Given the description of an element on the screen output the (x, y) to click on. 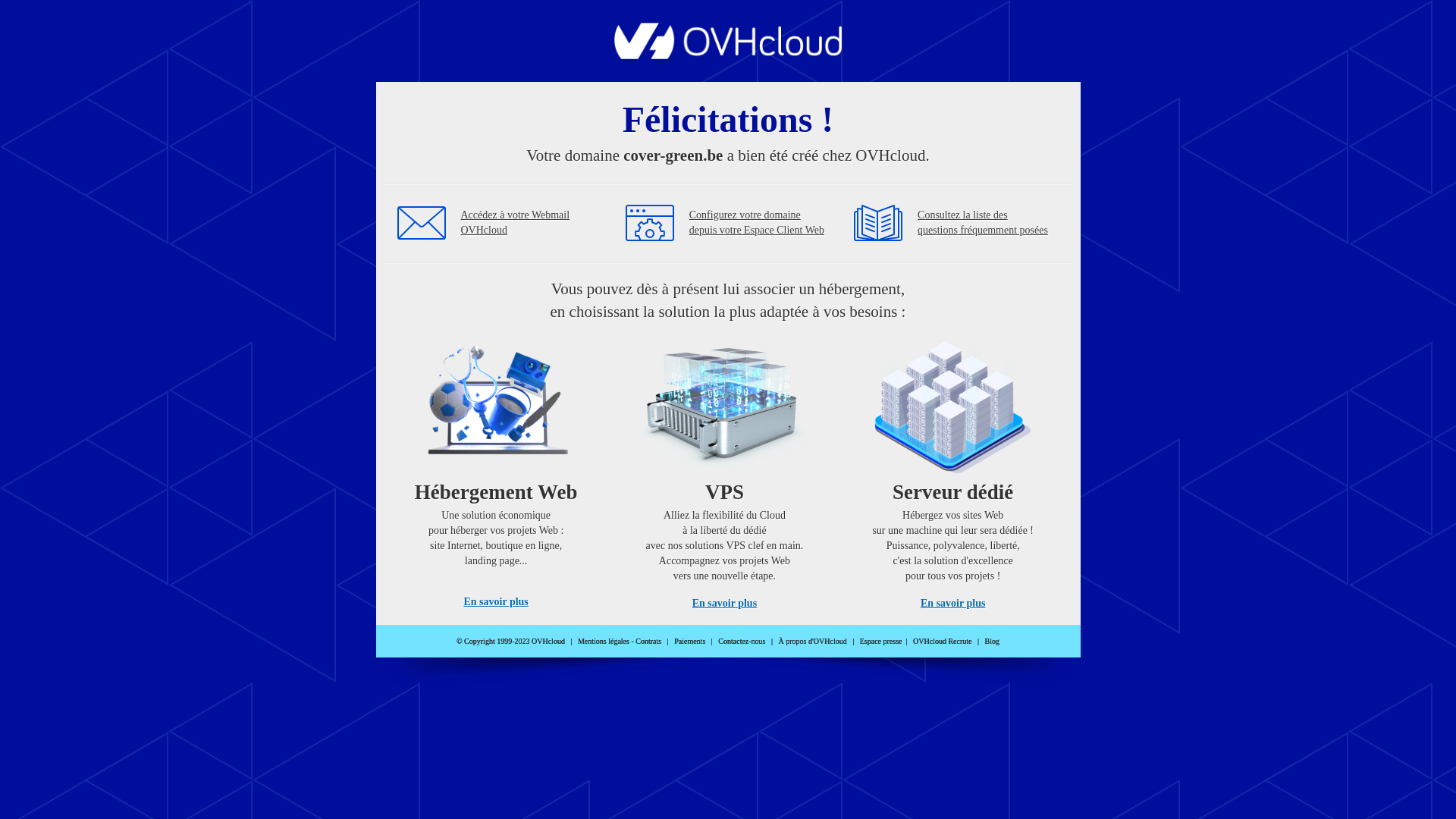
Blog Element type: text (992, 641)
Paiements Element type: text (689, 641)
En savoir plus Element type: text (724, 602)
Configurez votre domaine
depuis votre Espace Client Web Element type: text (756, 222)
VPS Element type: hover (724, 469)
En savoir plus Element type: text (952, 602)
OVHcloud Recrute Element type: text (942, 641)
En savoir plus Element type: text (495, 601)
Espace presse Element type: text (880, 641)
Contactez-nous Element type: text (741, 641)
OVHcloud Element type: hover (727, 54)
